Given the description of an element on the screen output the (x, y) to click on. 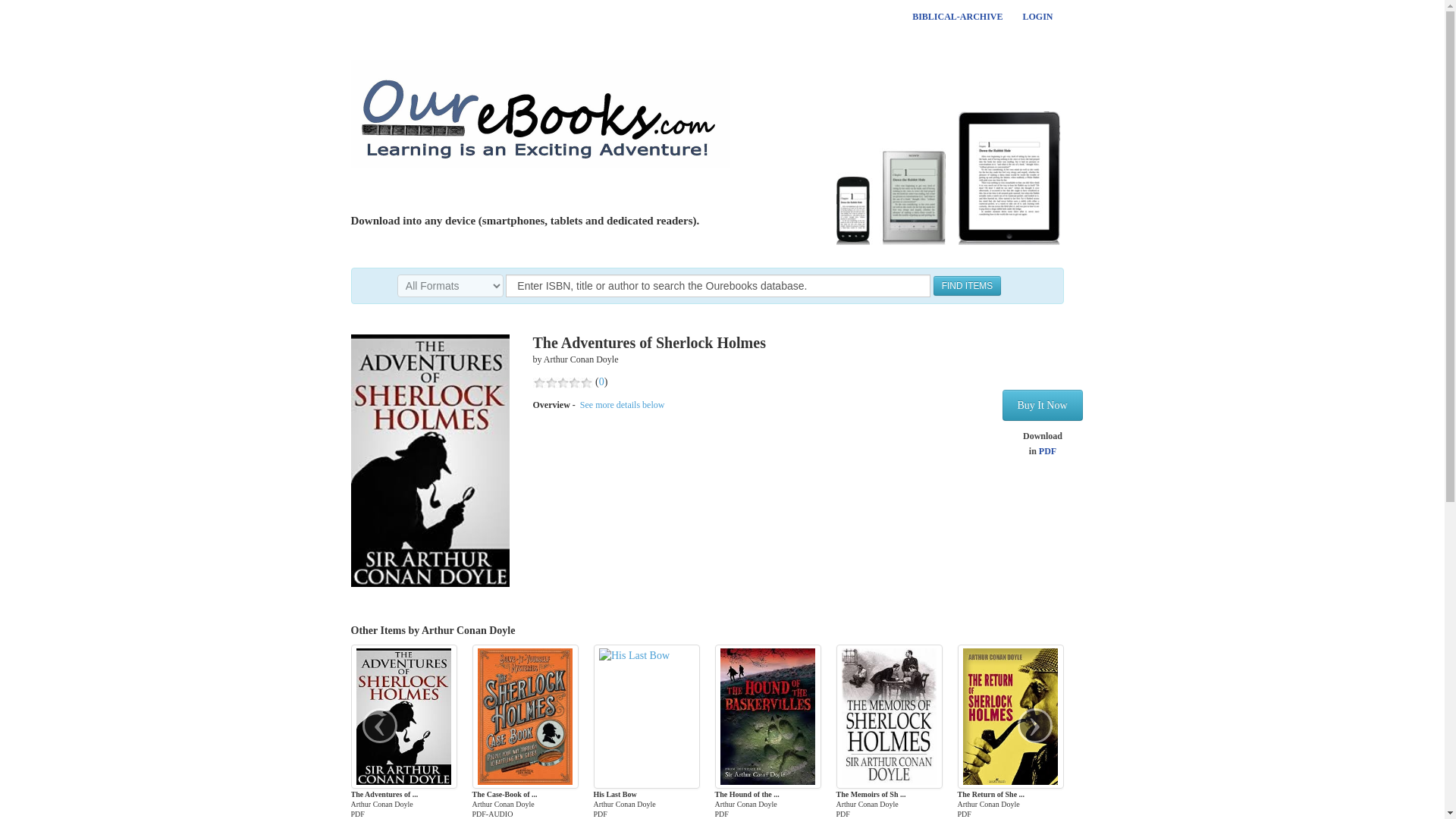
 See more details below (621, 404)
Buy It Now (1043, 404)
LOGIN (1037, 15)
FIND ITEMS (967, 285)
BIBLICAL-ARCHIVE (956, 15)
PDF (1048, 450)
The Adventures of Sherlock Holmes (429, 460)
